Given the description of an element on the screen output the (x, y) to click on. 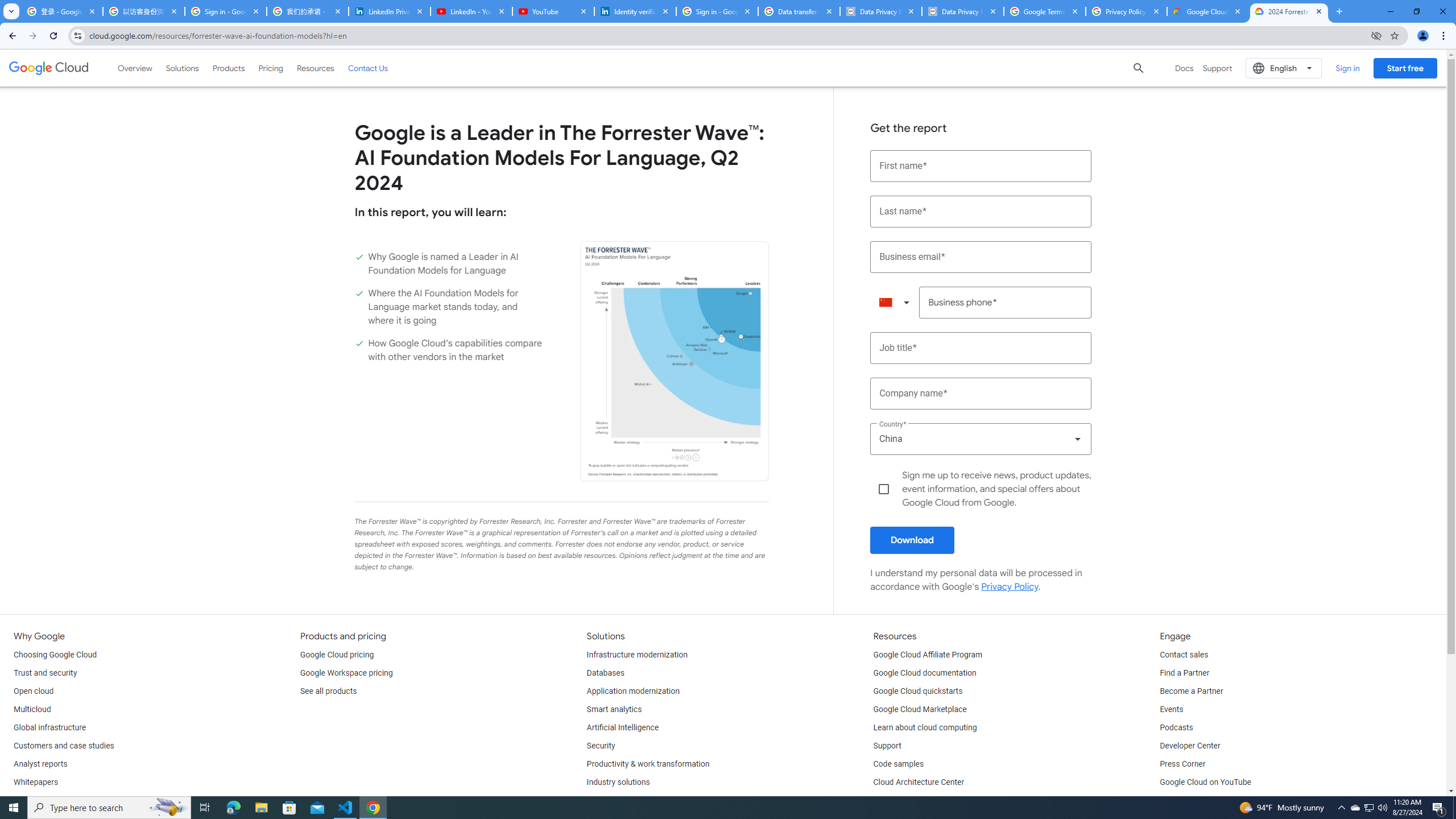
Smart analytics (614, 710)
DevOps solutions (617, 800)
Google Cloud pricing (336, 655)
Support (887, 746)
Google Cloud (48, 67)
Customers and case studies (64, 746)
Find a Partner (1183, 673)
Google Cloud Marketplace (919, 710)
Start free (1405, 67)
